Given the description of an element on the screen output the (x, y) to click on. 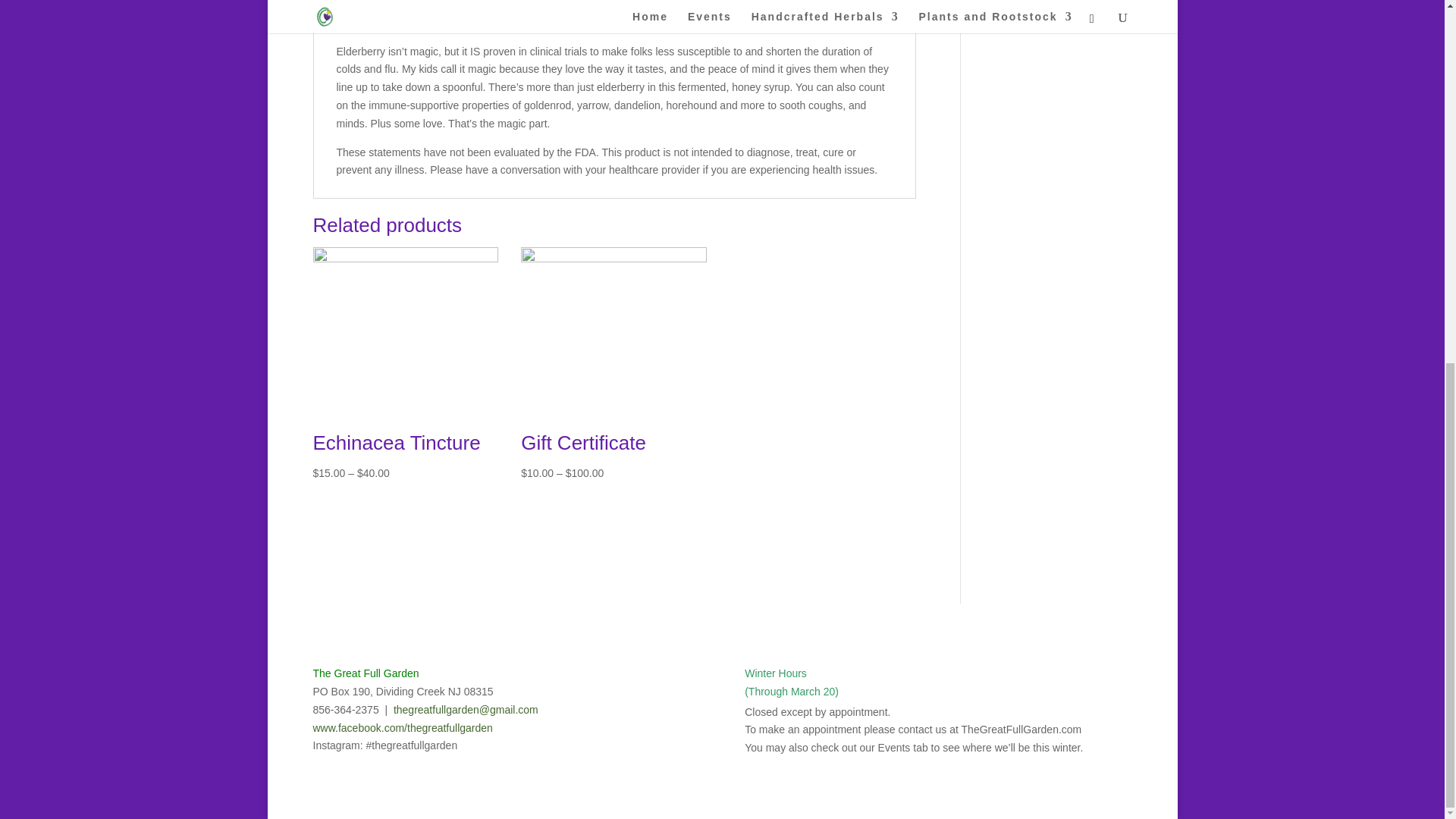
Description (365, 12)
Additional information (497, 12)
